Given the description of an element on the screen output the (x, y) to click on. 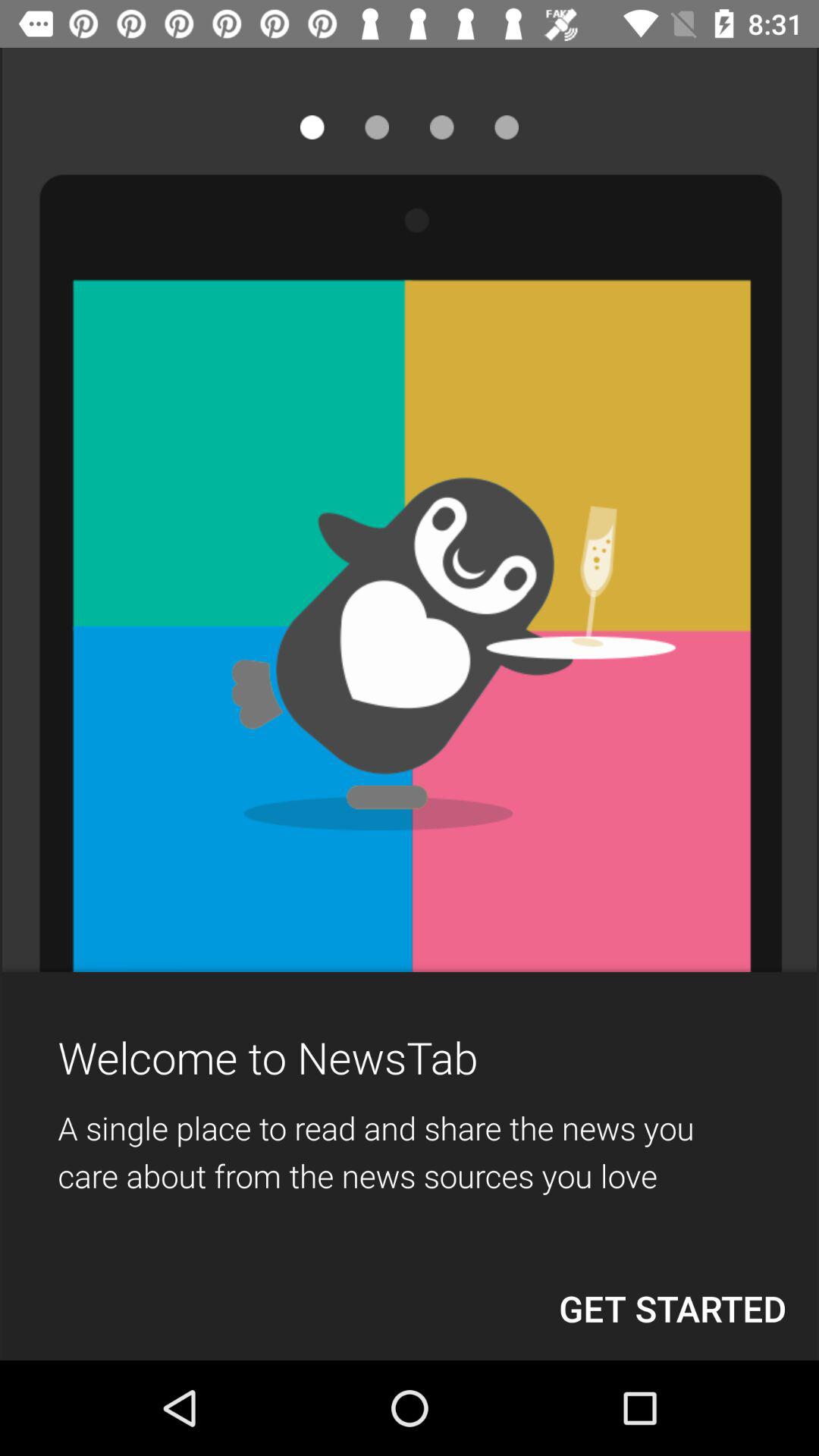
choose the item below a single place (672, 1308)
